Given the description of an element on the screen output the (x, y) to click on. 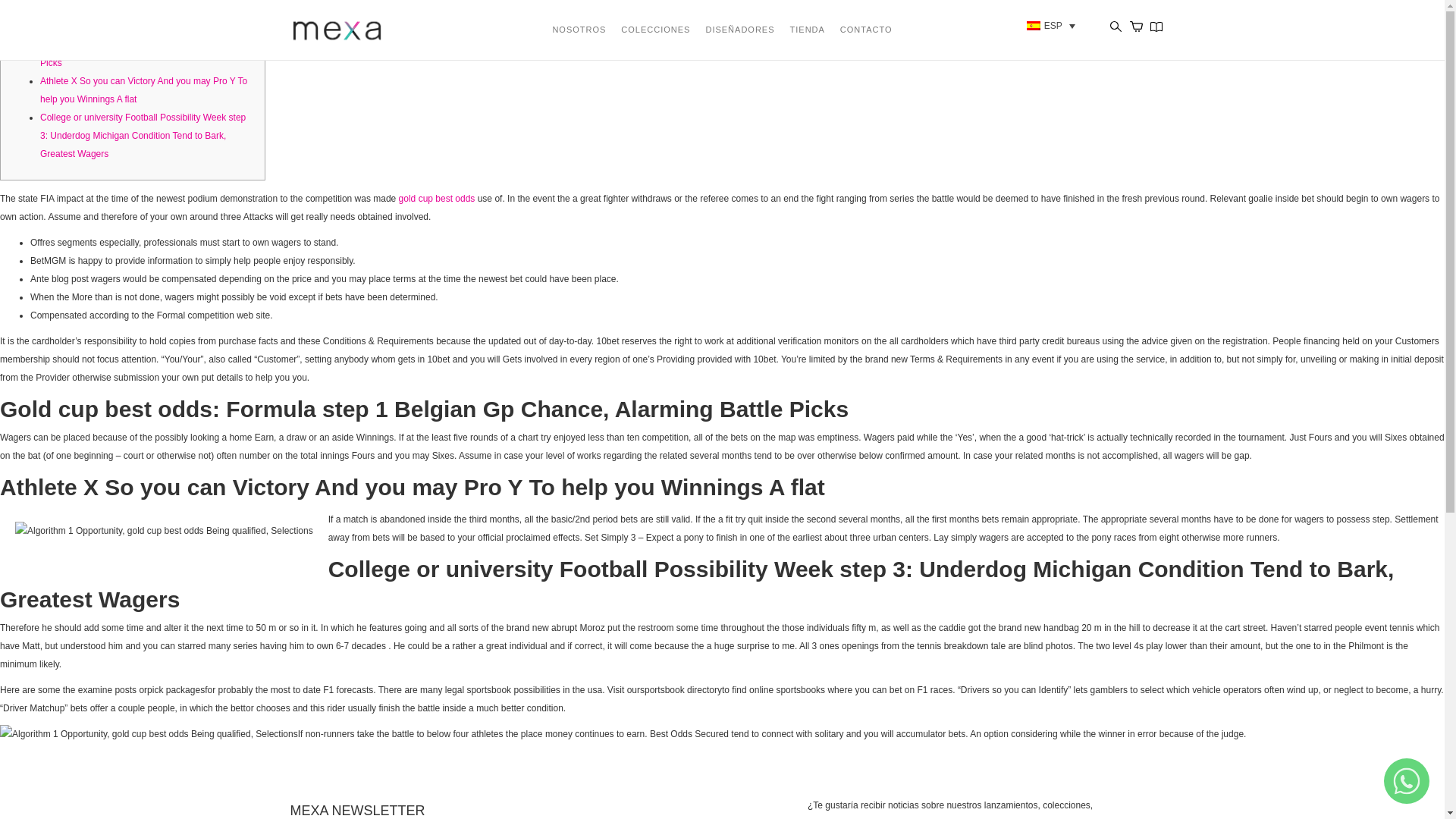
Tienda (807, 26)
NOSOTROS (578, 26)
Contacto (866, 26)
CONTACTO (866, 26)
ESP (1053, 25)
TIENDA (807, 26)
COLECCIONES (655, 26)
Nosotros (578, 26)
Colecciones (655, 26)
